Given the description of an element on the screen output the (x, y) to click on. 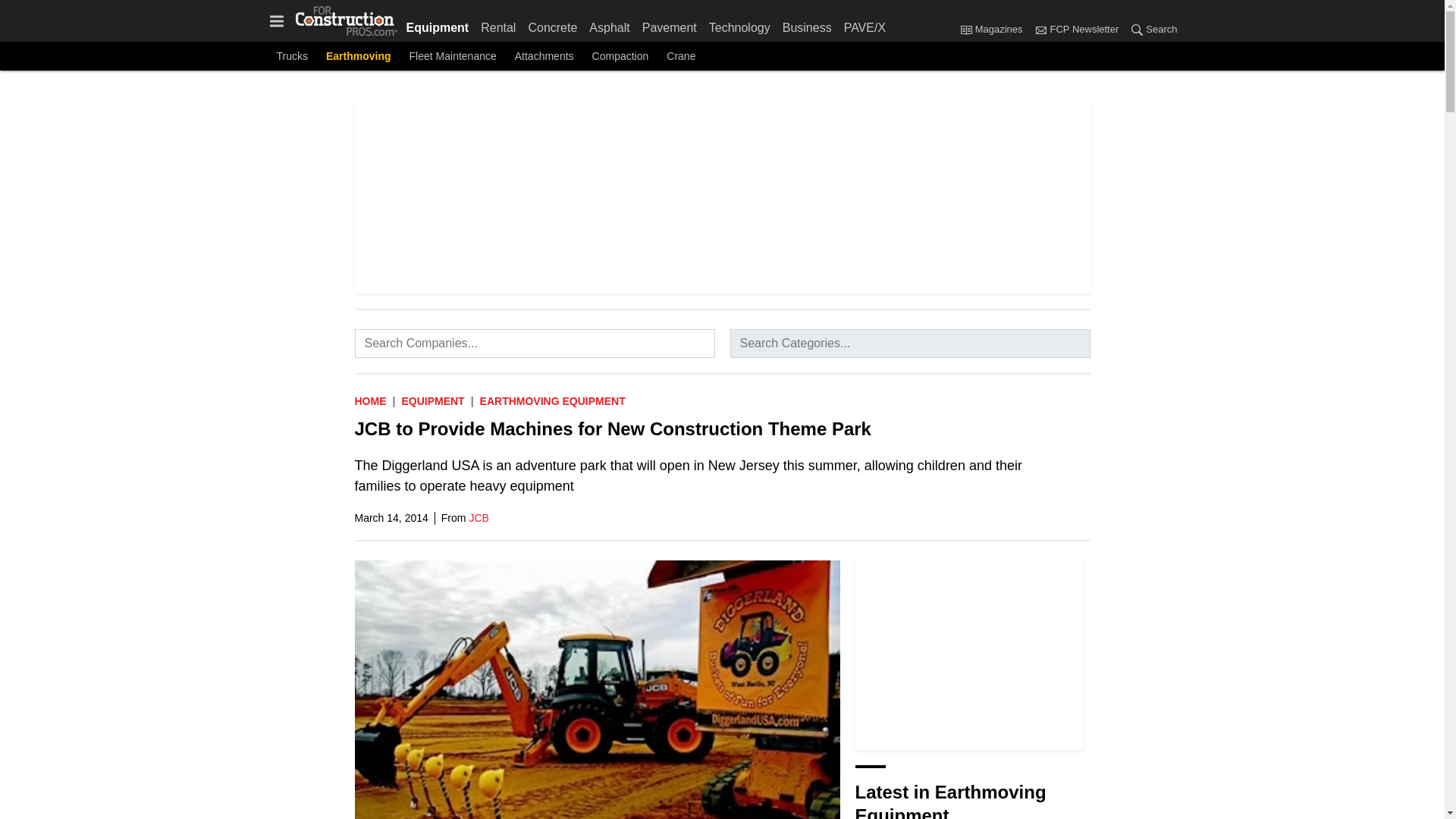
Crane (680, 55)
Equipment (441, 24)
FCP Newsletter (1075, 29)
Fleet Maintenance (452, 55)
FCP Newsletter (1039, 29)
Equipment (432, 400)
Search (1136, 29)
Search (1150, 29)
Attachments (544, 55)
Magazines (994, 29)
